Given the description of an element on the screen output the (x, y) to click on. 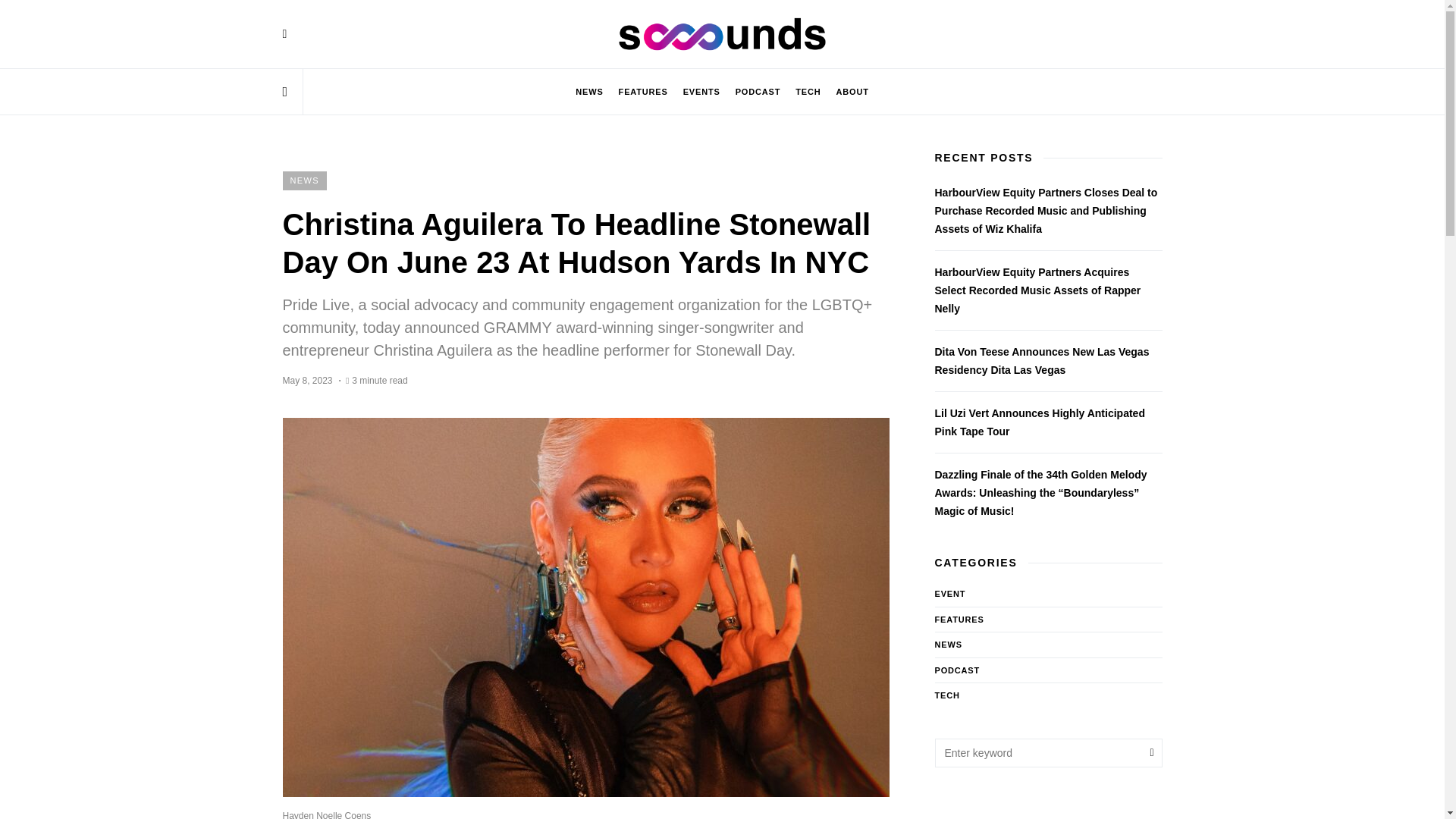
NEWS (304, 180)
PODCAST (757, 91)
FEATURES (643, 91)
